Given the description of an element on the screen output the (x, y) to click on. 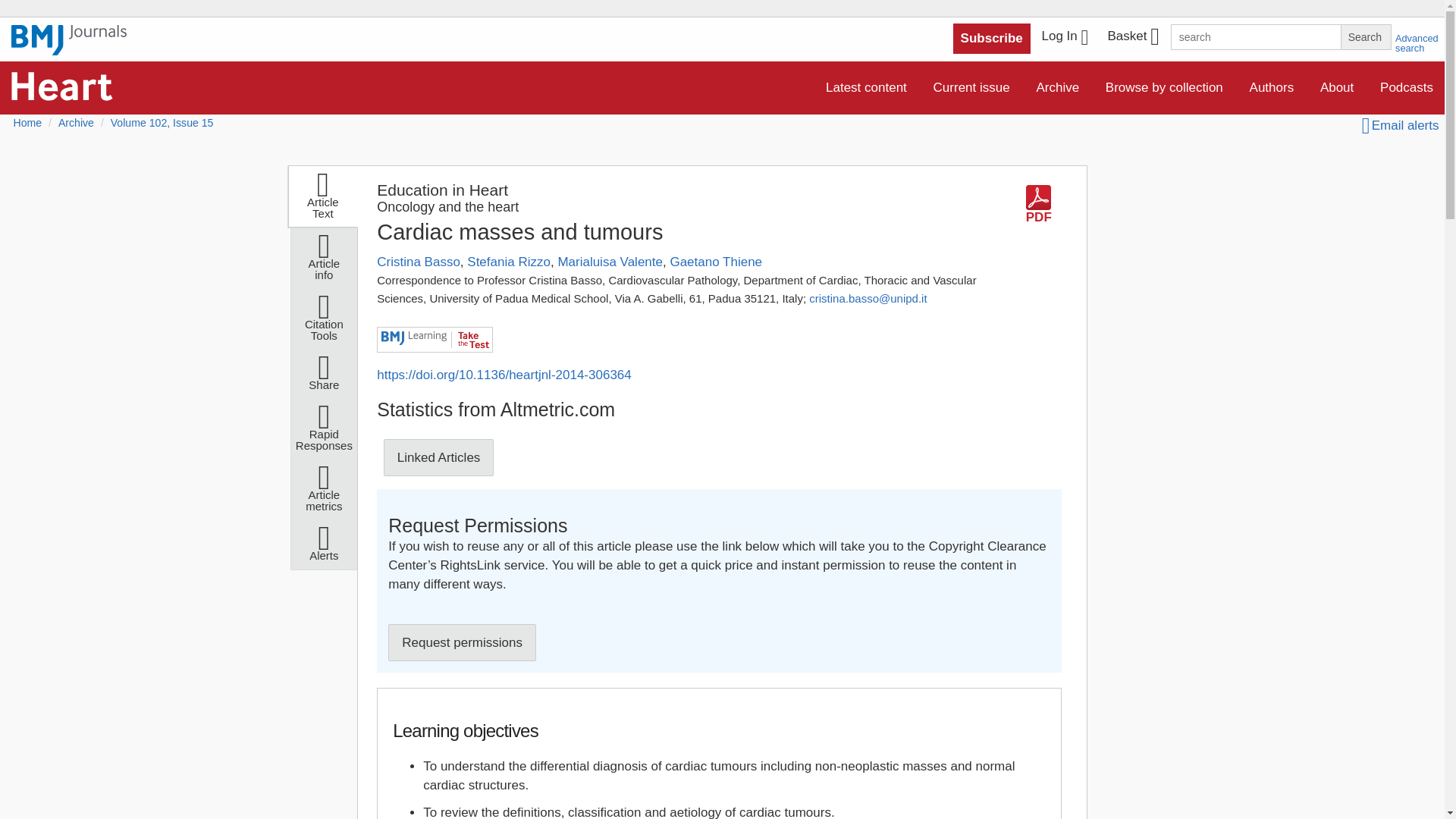
Advanced search (1416, 43)
Current issue (971, 87)
Basket (1132, 38)
Browse by collection (1164, 87)
Archive (1057, 87)
Search (1364, 36)
About (1336, 87)
Authors (1272, 87)
Search (1364, 36)
BMJ Journals (68, 47)
